Given the description of an element on the screen output the (x, y) to click on. 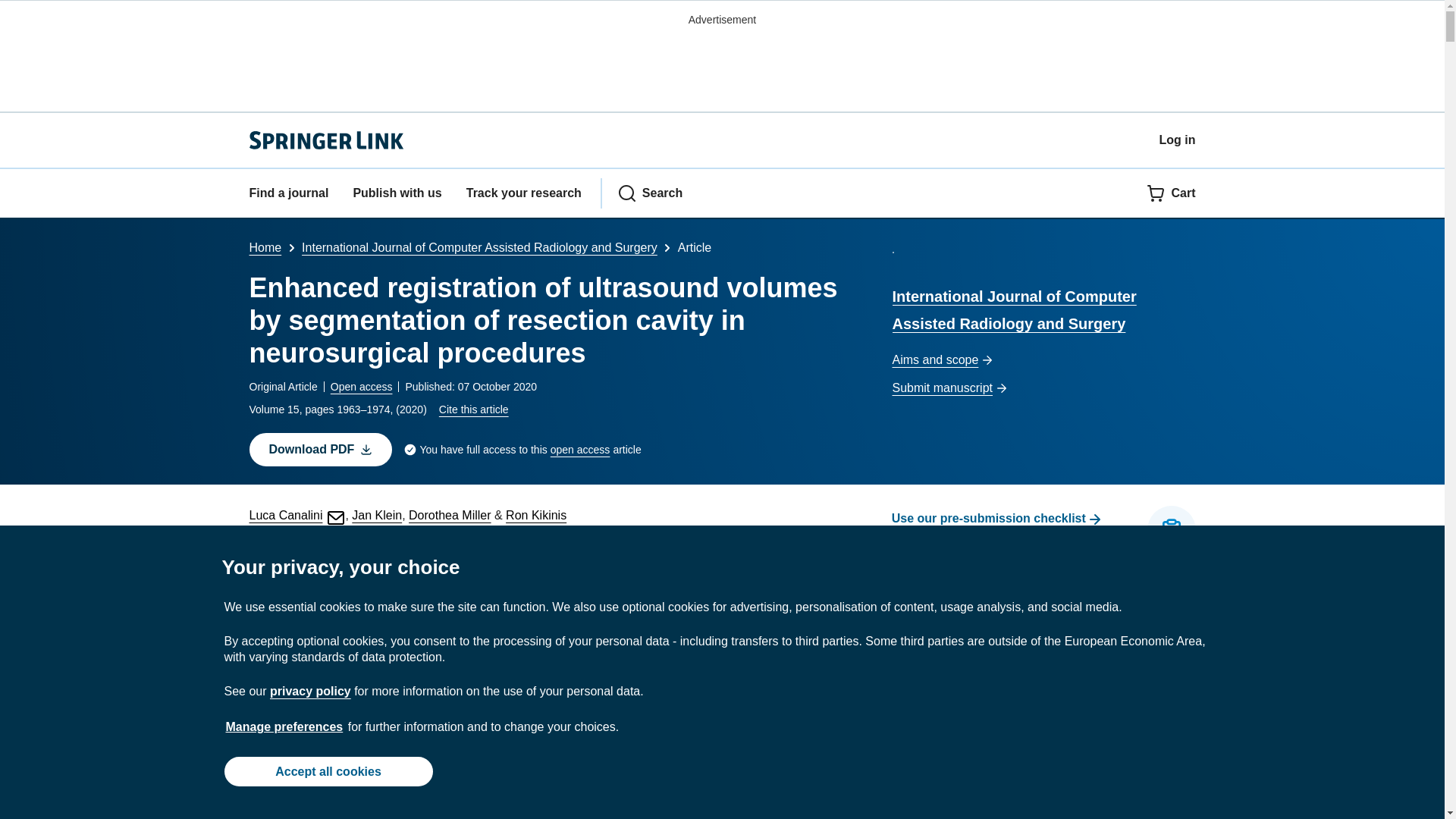
open access (580, 449)
Track your research (524, 192)
Jan Klein (376, 514)
Luca Canalini (296, 514)
Explore all metrics (520, 555)
Ron Kikinis (535, 514)
Home (264, 246)
Accept all cookies (328, 771)
Dorothea Miller (449, 514)
Cite this article (473, 409)
Download PDF (319, 449)
Log in (1177, 139)
Search (649, 192)
